Given the description of an element on the screen output the (x, y) to click on. 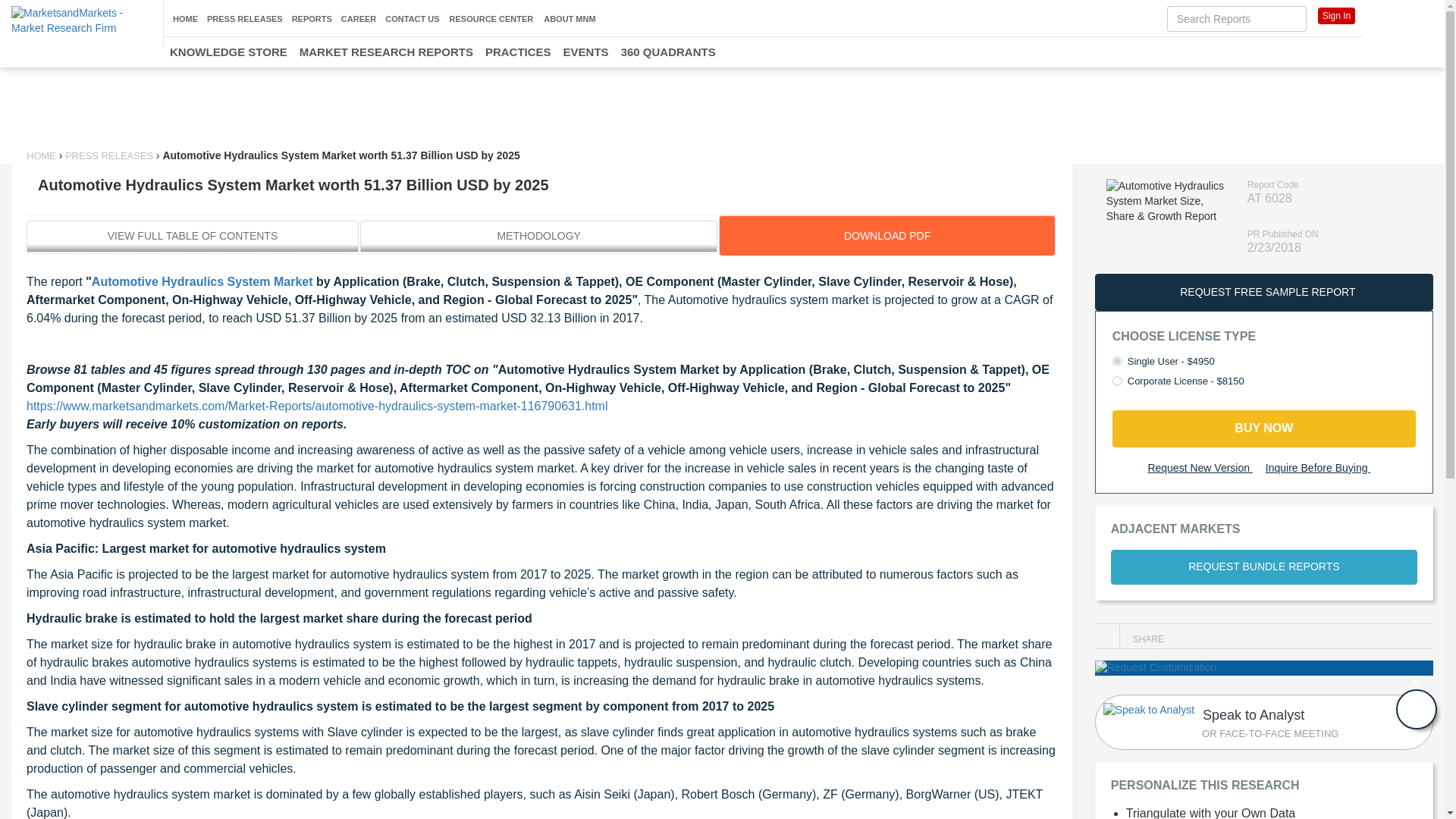
share to twitter (1192, 633)
on (1117, 380)
Press release (108, 155)
HOME (185, 18)
Inquire Before Buying (1322, 468)
RESOURCE CENTER (491, 19)
share to facebook (1179, 633)
BUY NOW (1263, 722)
KNOW MORE (1263, 428)
DOWNLOAD PDF (1130, 122)
Market Research Firm (886, 235)
Request New Version (81, 20)
Email (1204, 468)
